Given the description of an element on the screen output the (x, y) to click on. 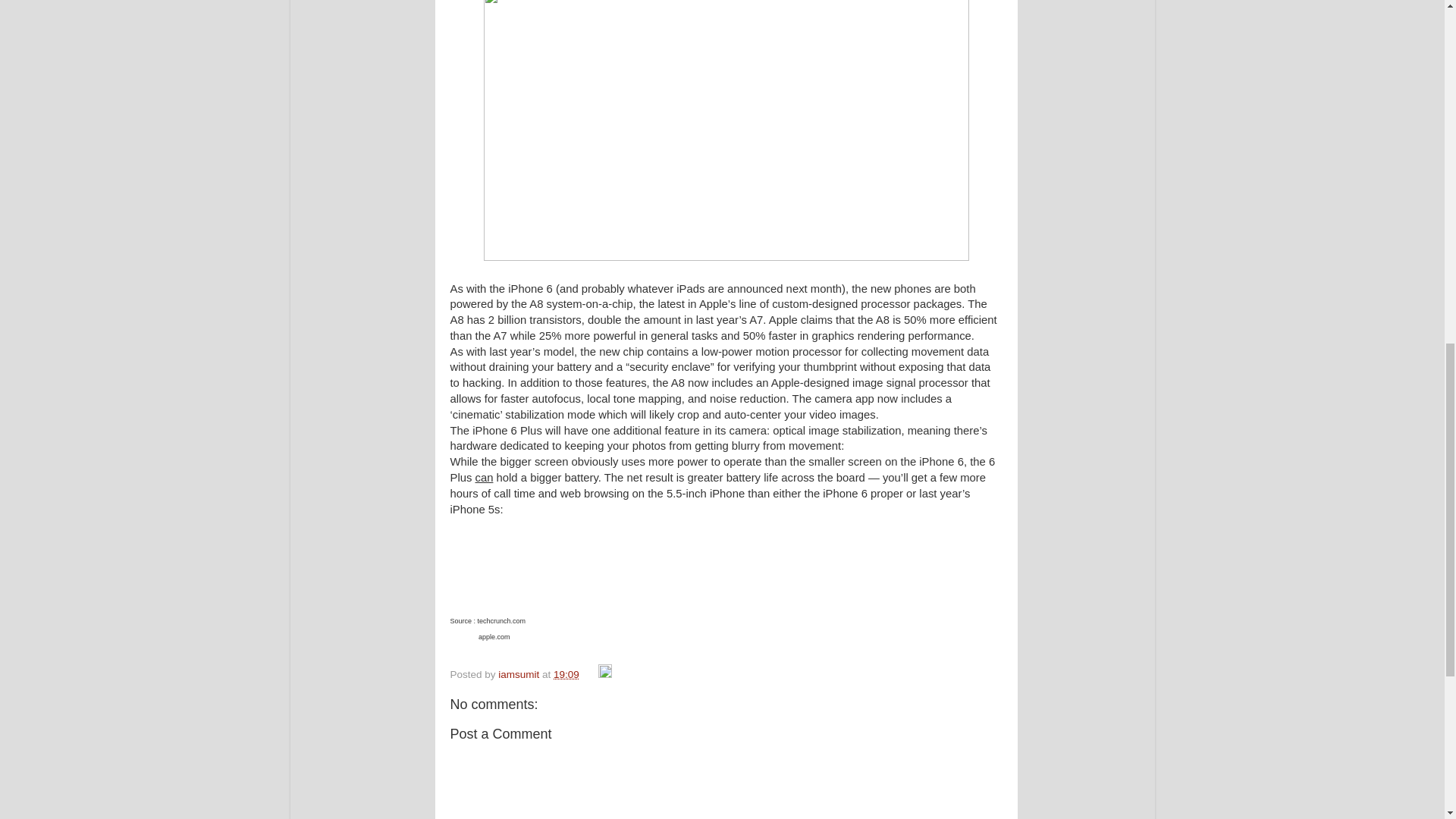
author profile (519, 674)
iamsumit (519, 674)
Email Post (590, 674)
19:09 (566, 674)
permanent link (566, 674)
Edit Post (604, 674)
